Given the description of an element on the screen output the (x, y) to click on. 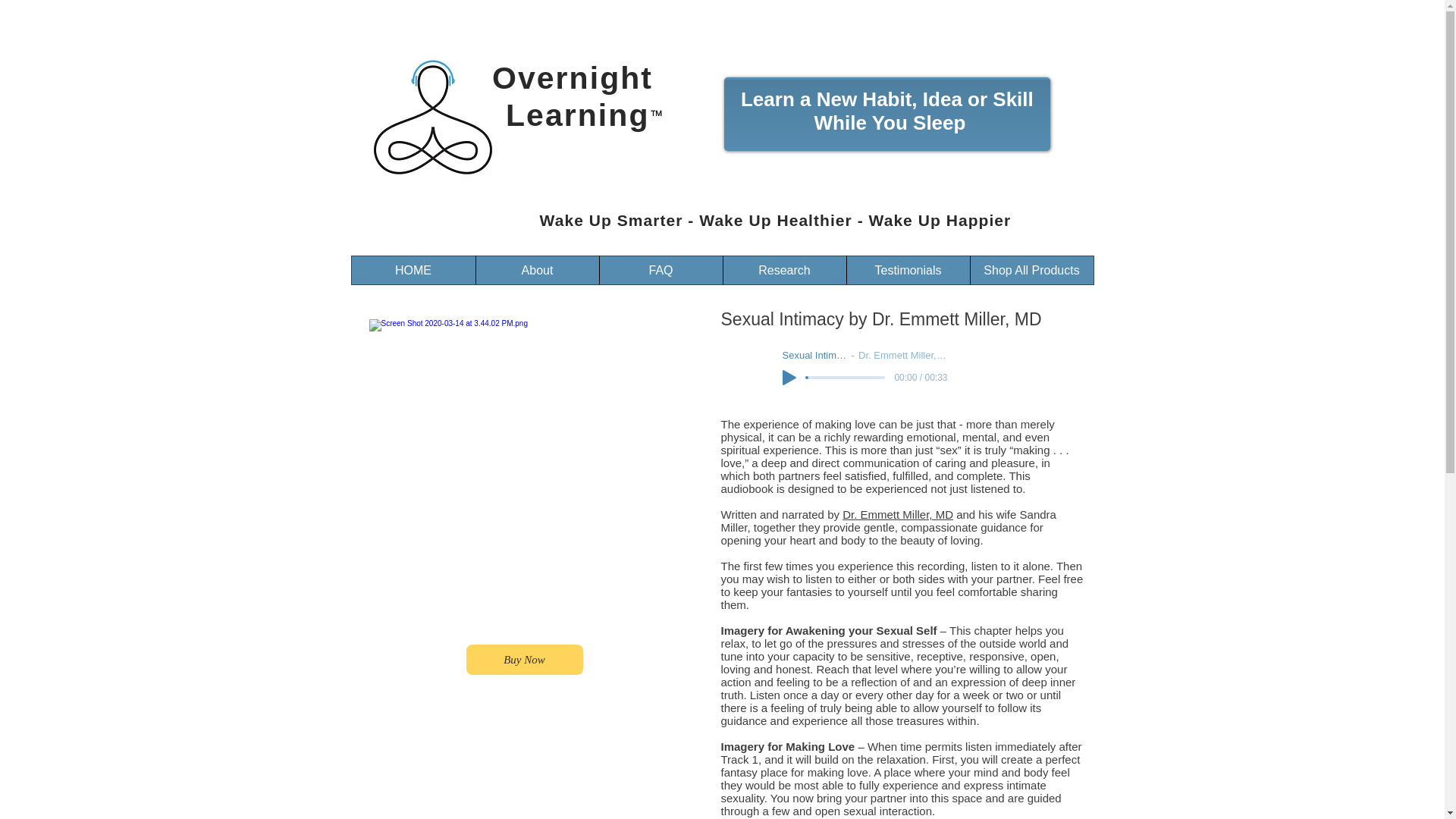
0 (845, 377)
Idea or Skill (978, 98)
 Wake Up Smarter - Wake Up Healthier - Wake Up Happier (772, 220)
Shop All Products (1031, 270)
FAQ (660, 270)
Dr. Emmett Miller, MD (898, 513)
Research (783, 270)
While You Sleep (889, 123)
About (536, 270)
Learn a New Habit, (829, 98)
Buy Now (523, 659)
HOME (414, 270)
 Learning (572, 114)
Testimonials (907, 270)
Overnight (572, 77)
